Given the description of an element on the screen output the (x, y) to click on. 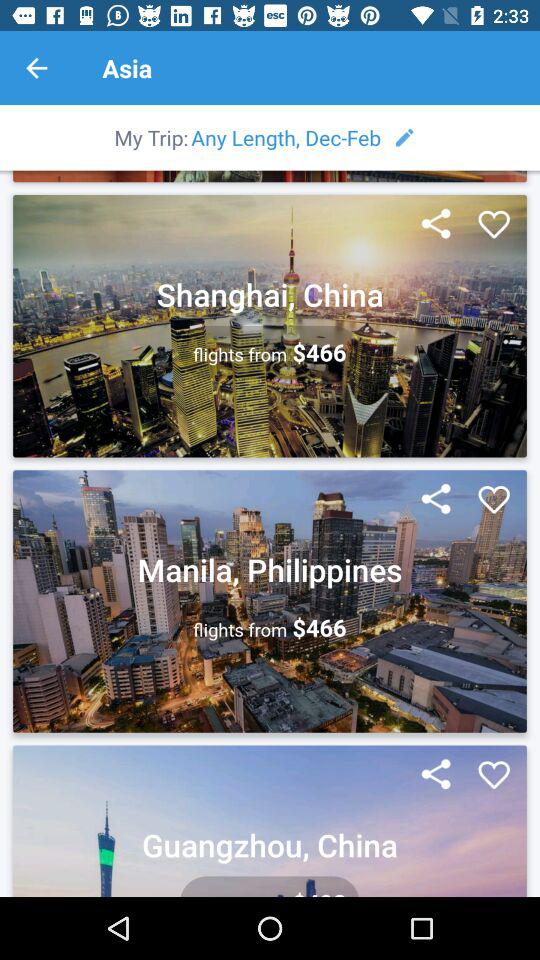
make a favorite (494, 225)
